Given the description of an element on the screen output the (x, y) to click on. 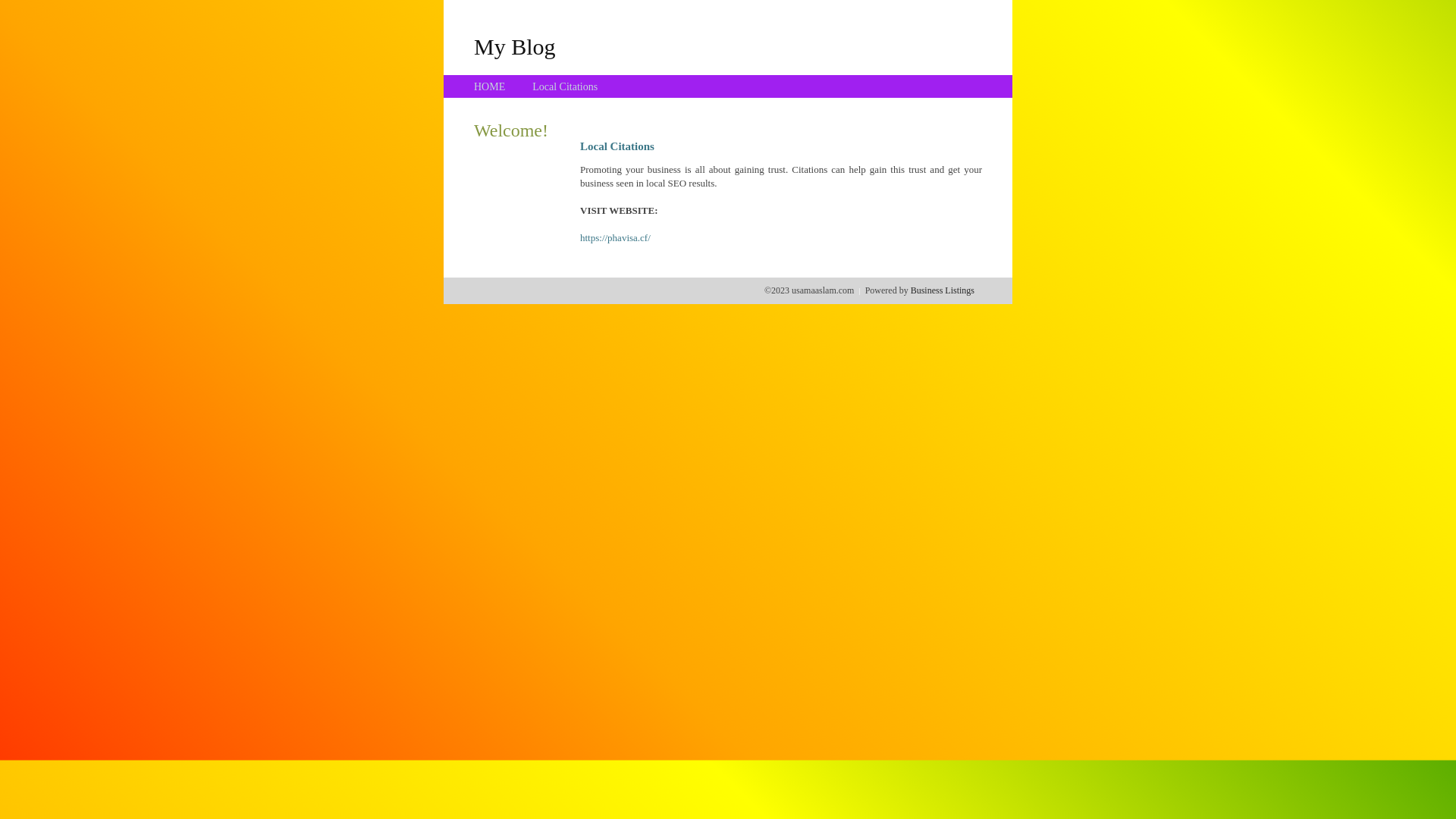
HOME Element type: text (489, 86)
https://phavisa.cf/ Element type: text (615, 237)
My Blog Element type: text (514, 46)
Business Listings Element type: text (942, 290)
Local Citations Element type: text (564, 86)
